Given the description of an element on the screen output the (x, y) to click on. 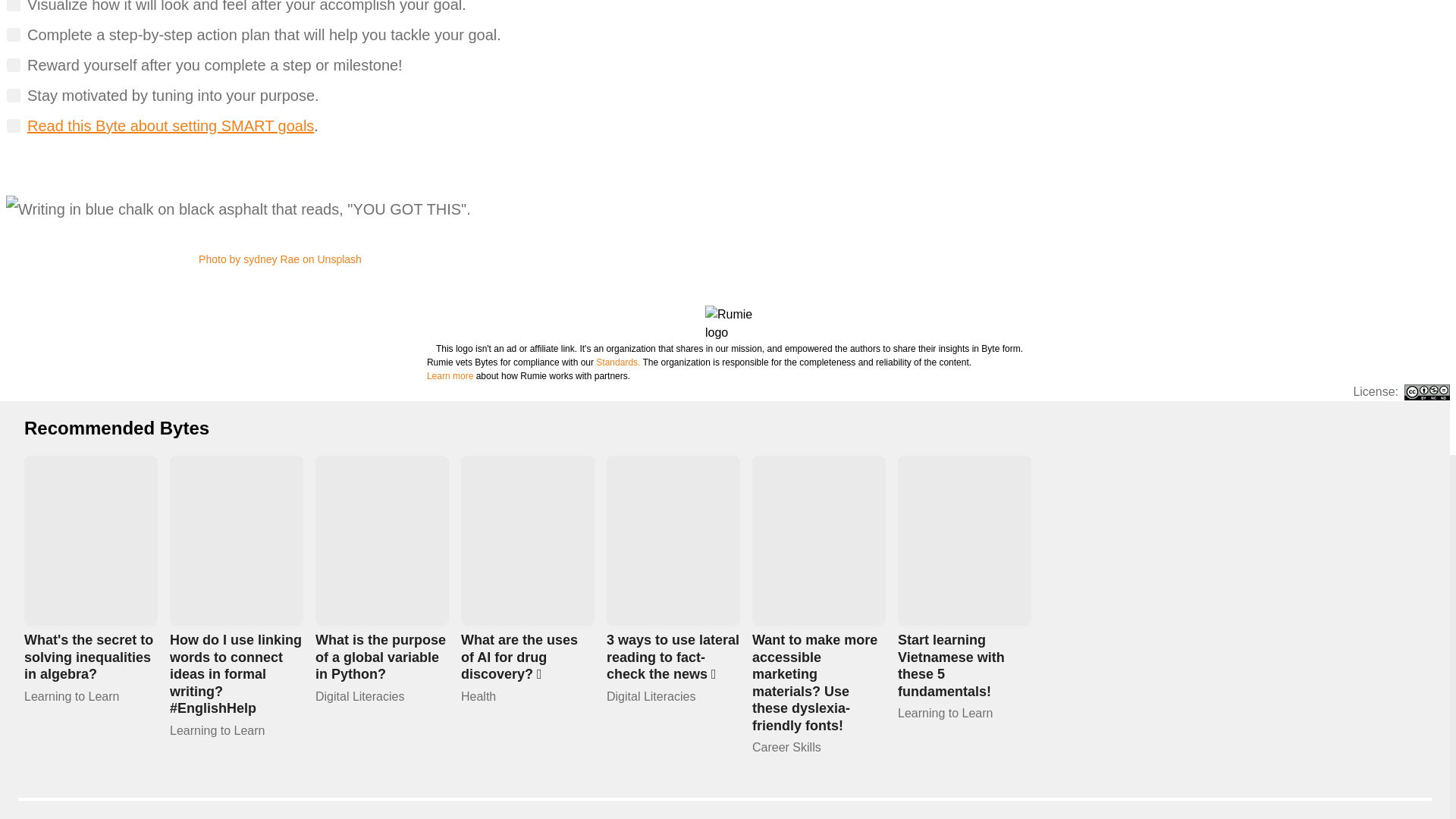
on (13, 64)
on (13, 34)
on (13, 125)
on (13, 95)
on (13, 6)
